Given the description of an element on the screen output the (x, y) to click on. 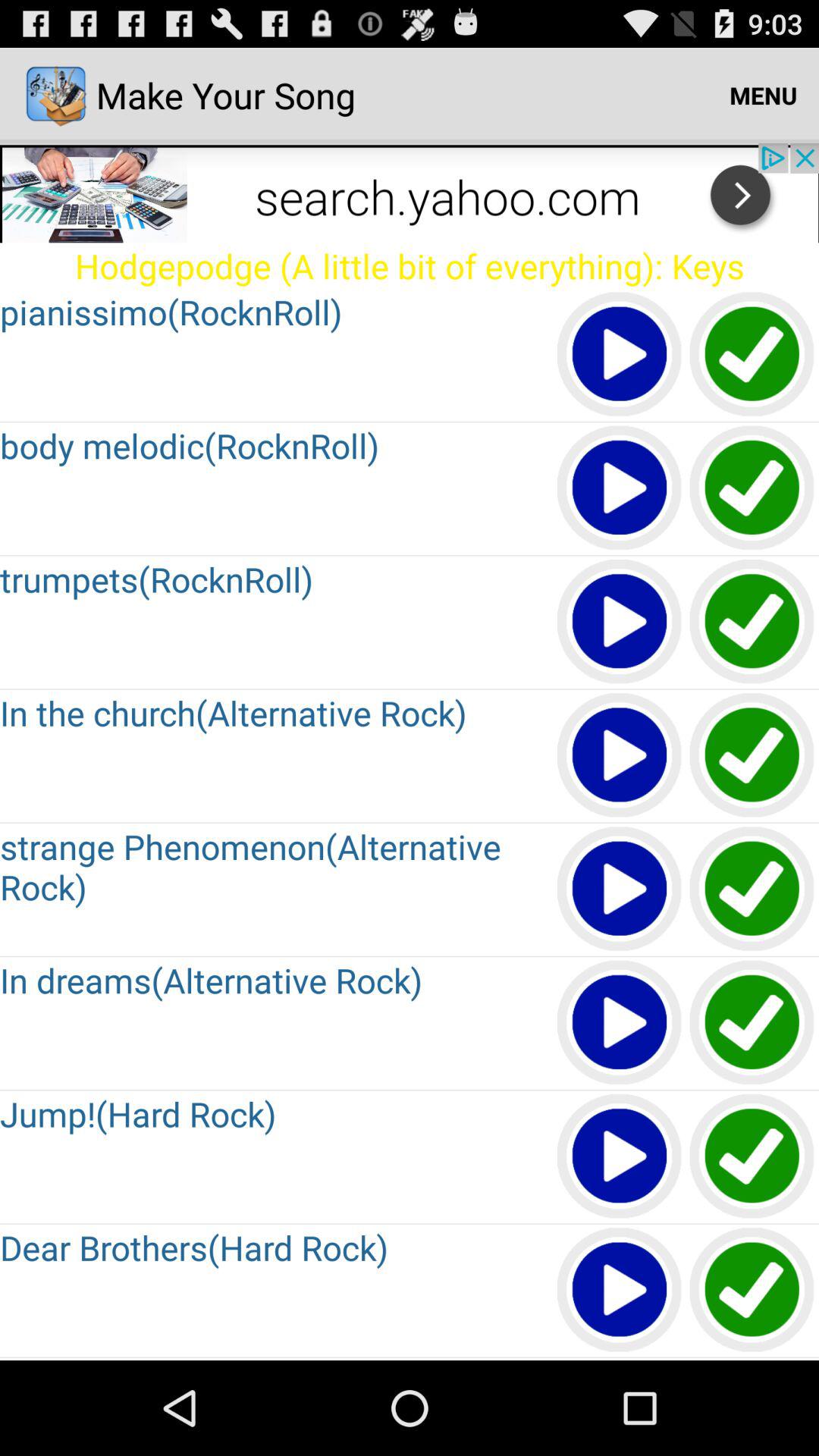
play option (619, 488)
